Given the description of an element on the screen output the (x, y) to click on. 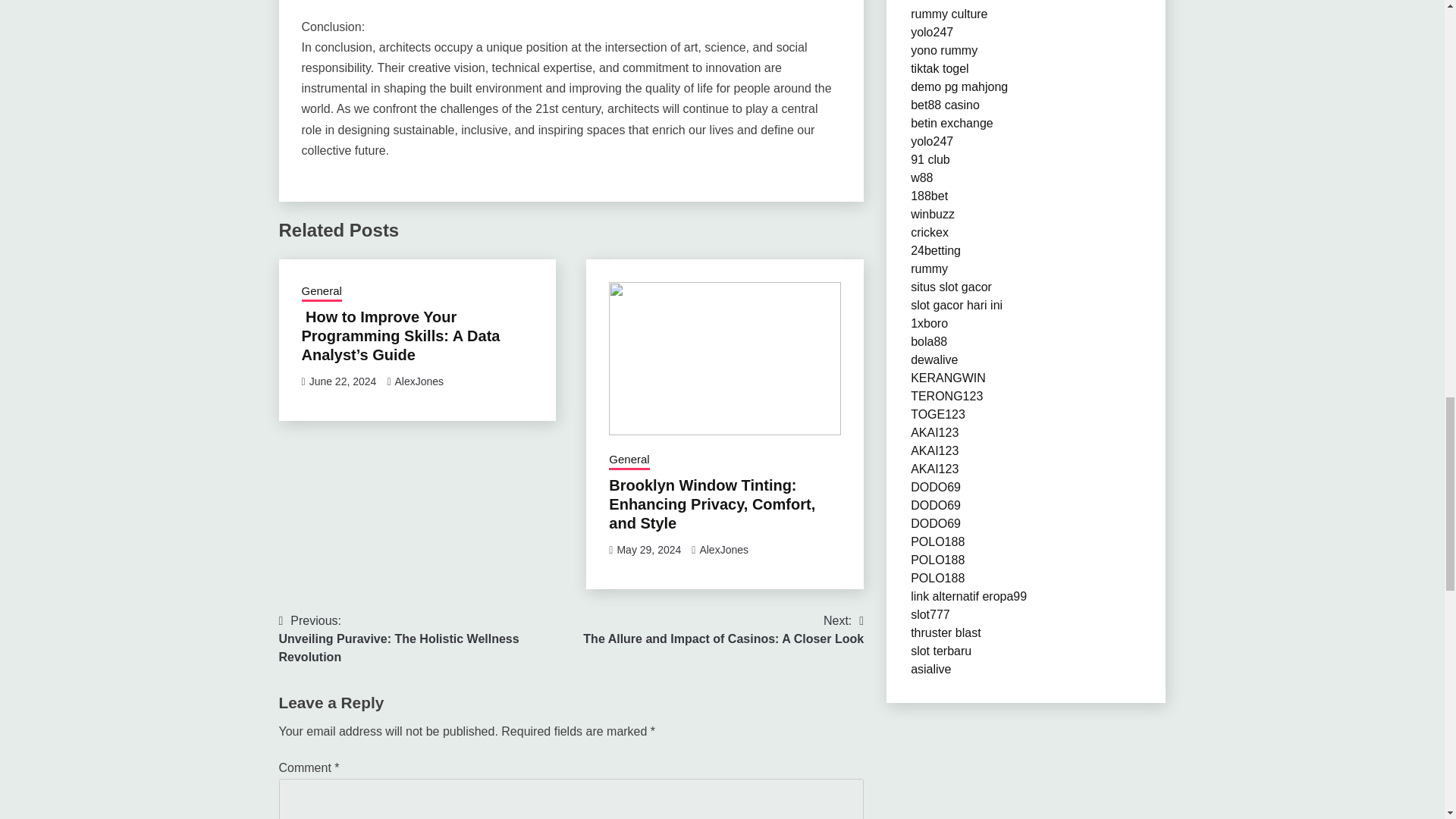
General (321, 292)
AlexJones (419, 381)
May 29, 2024 (648, 549)
June 22, 2024 (342, 381)
AlexJones (723, 549)
General (628, 460)
